Given the description of an element on the screen output the (x, y) to click on. 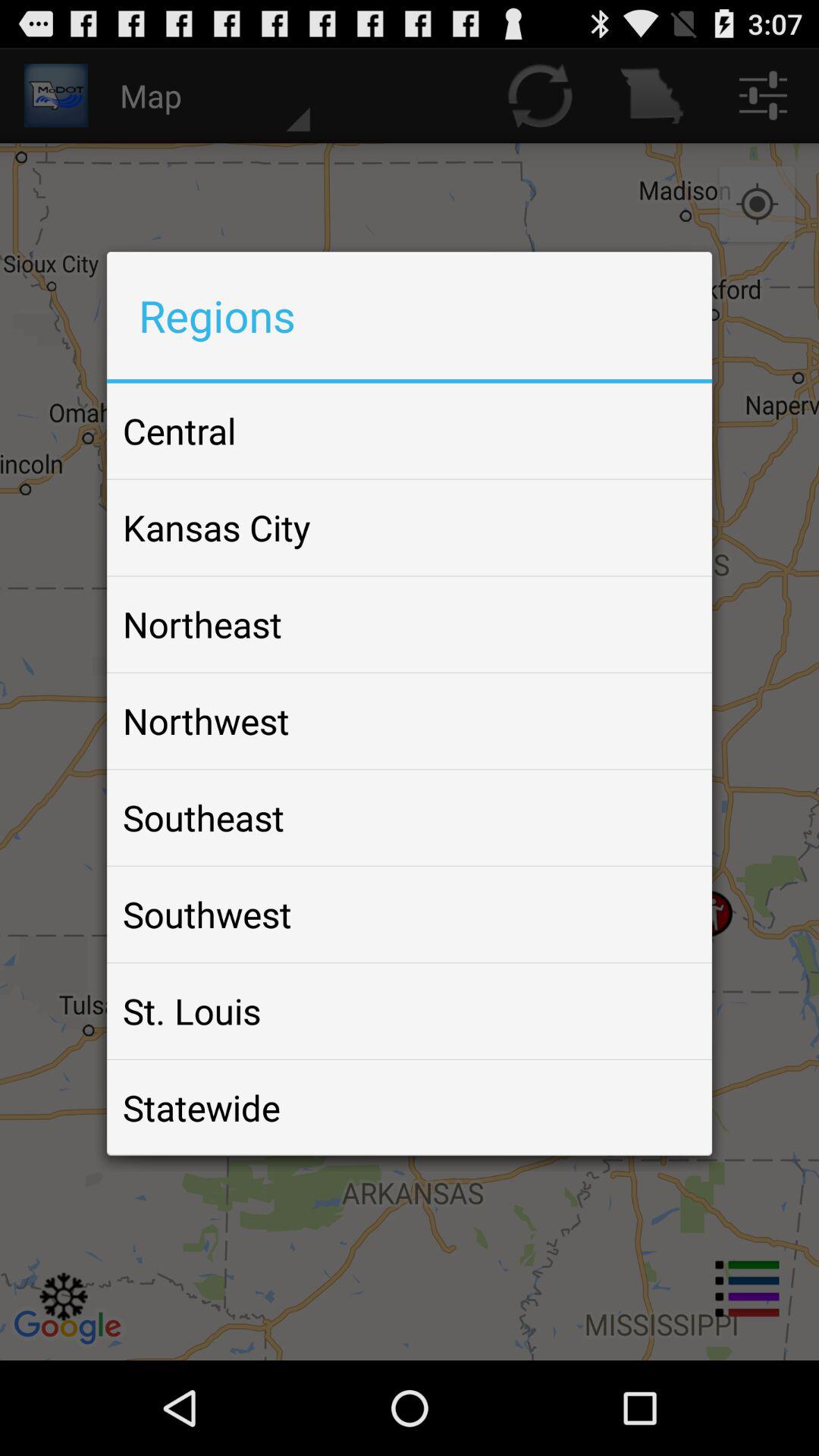
launch icon below st. louis app (201, 1107)
